Given the description of an element on the screen output the (x, y) to click on. 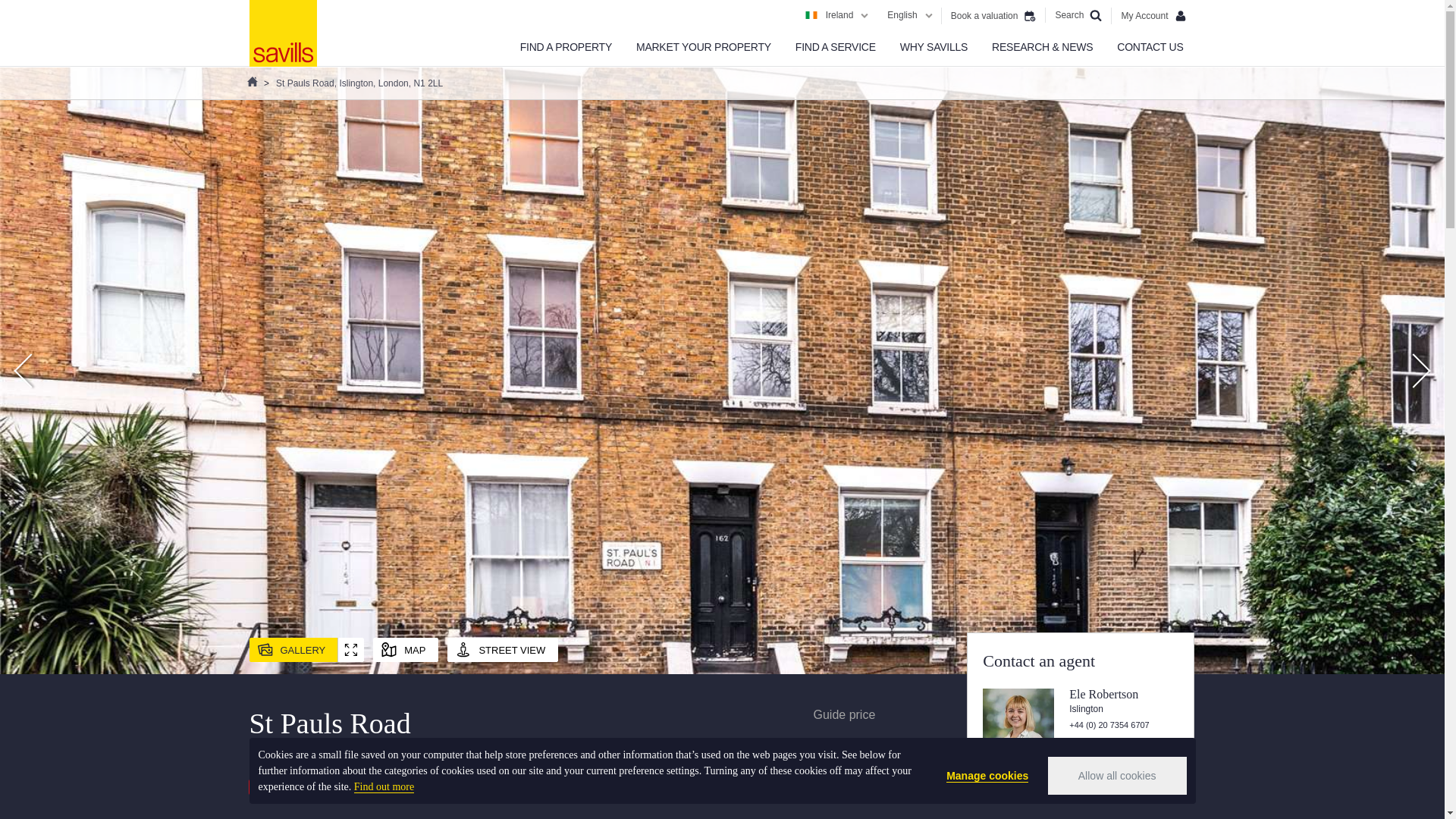
Find out more (383, 787)
Manage cookies (986, 775)
Search (1077, 14)
Go to homepage (281, 33)
My Account (1152, 15)
FIND A PROPERTY (565, 46)
Allow all cookies (1117, 775)
Book a valuation (992, 15)
